Given the description of an element on the screen output the (x, y) to click on. 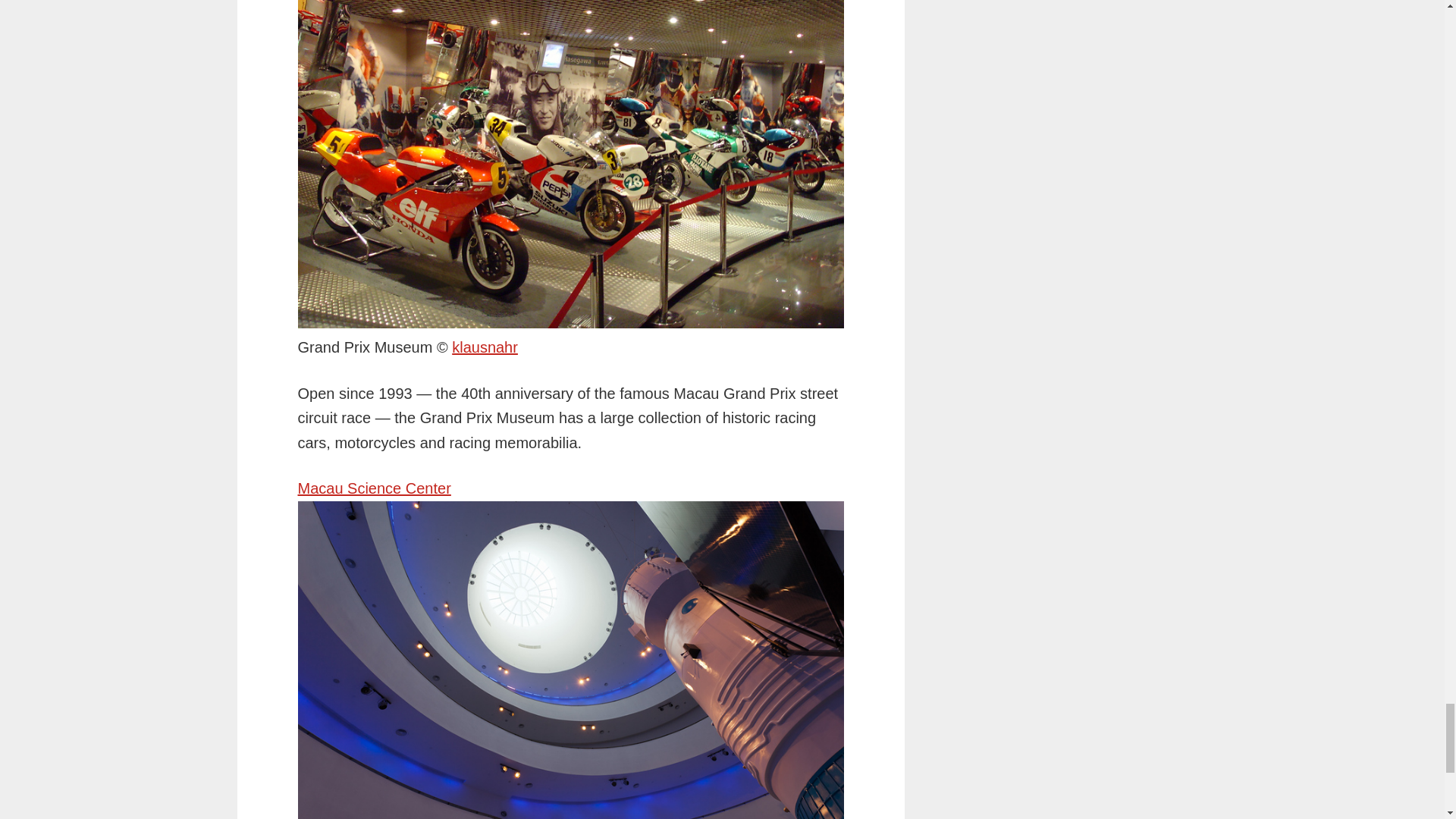
Macau Science Center (373, 487)
Grand Prix Museum (484, 347)
klausnahr (484, 347)
